Given the description of an element on the screen output the (x, y) to click on. 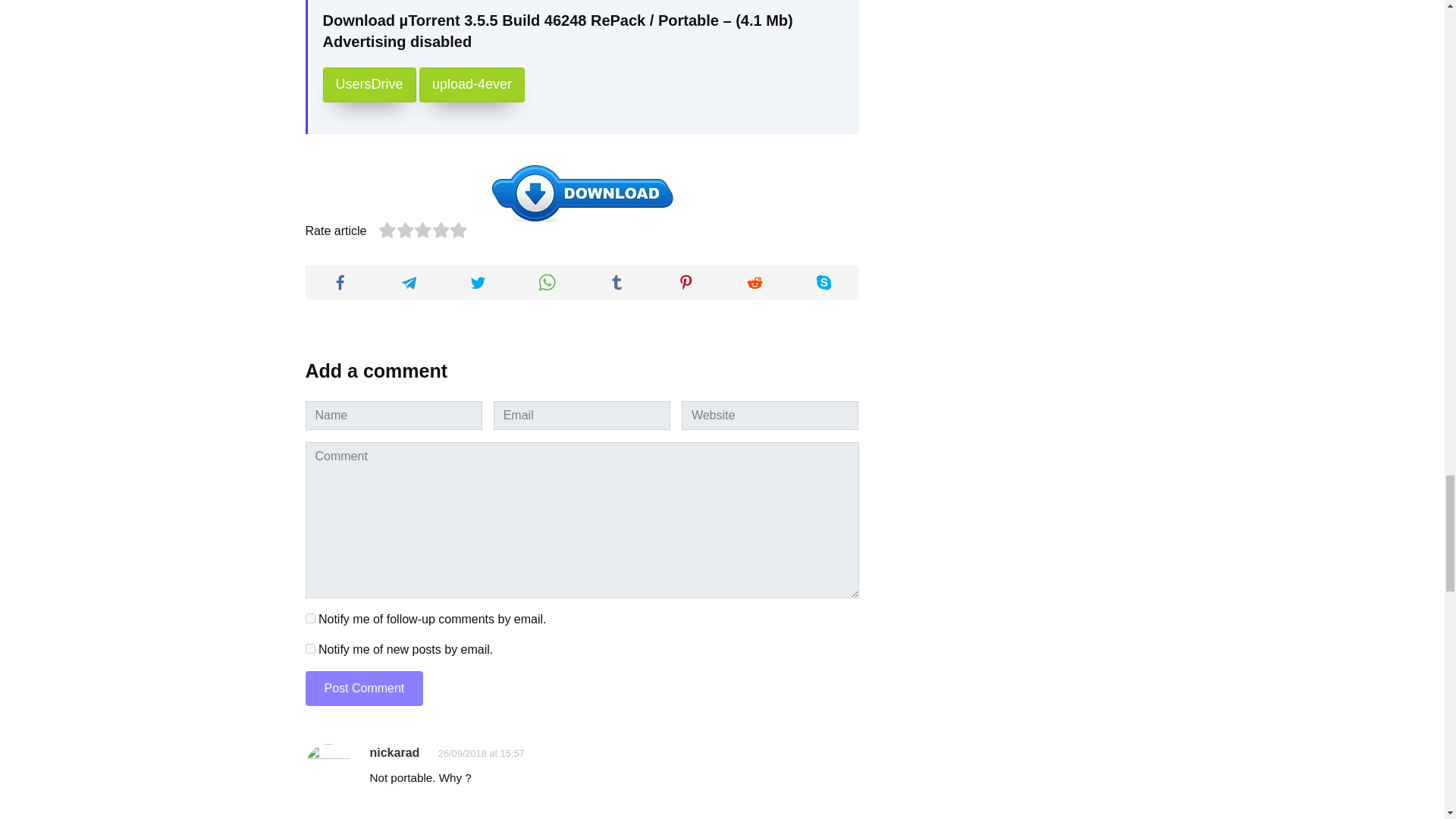
subscribe (309, 648)
subscribe (309, 618)
Post Comment (363, 687)
